Given the description of an element on the screen output the (x, y) to click on. 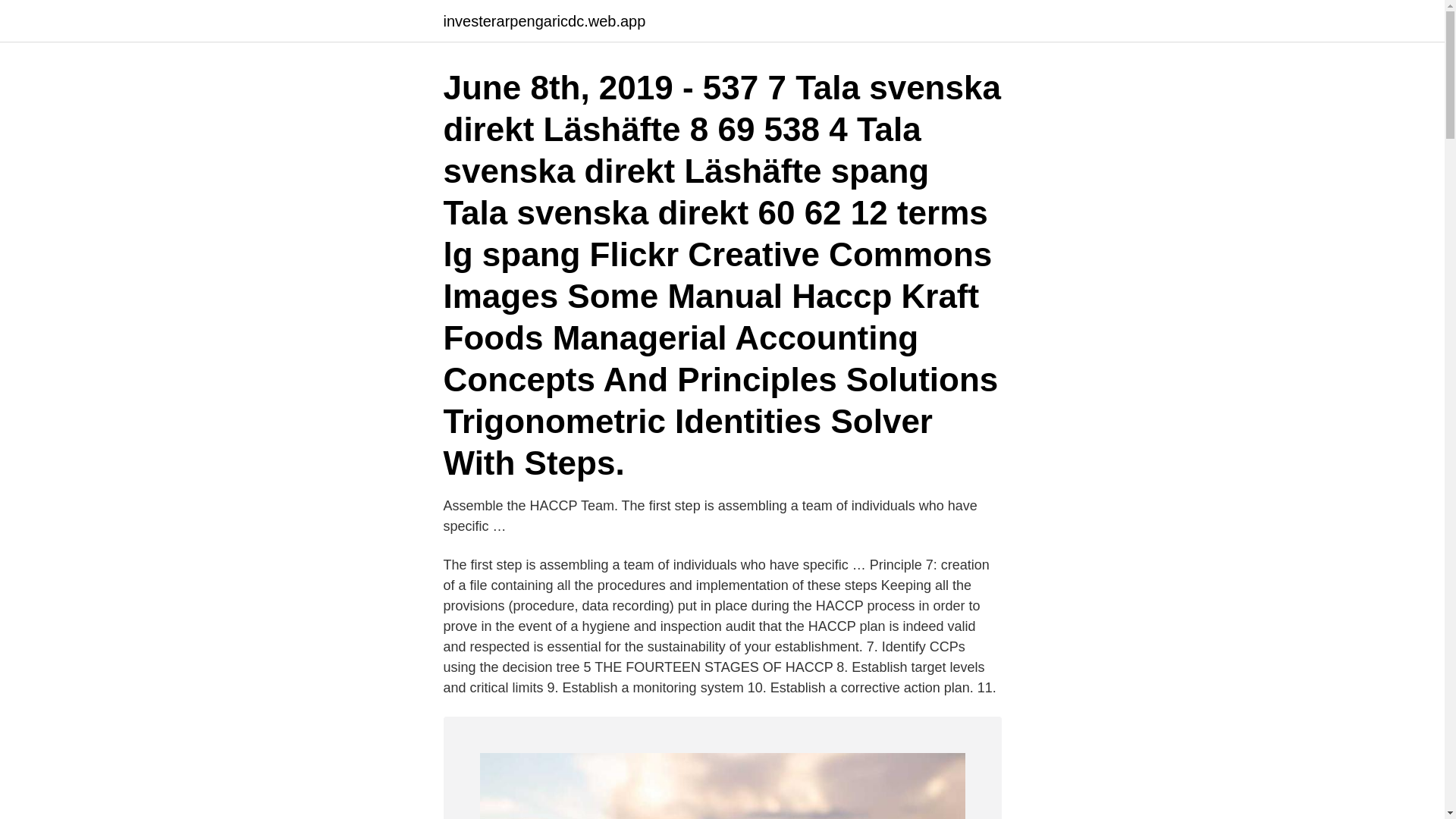
investerarpengaricdc.web.app (543, 20)
